Given the description of an element on the screen output the (x, y) to click on. 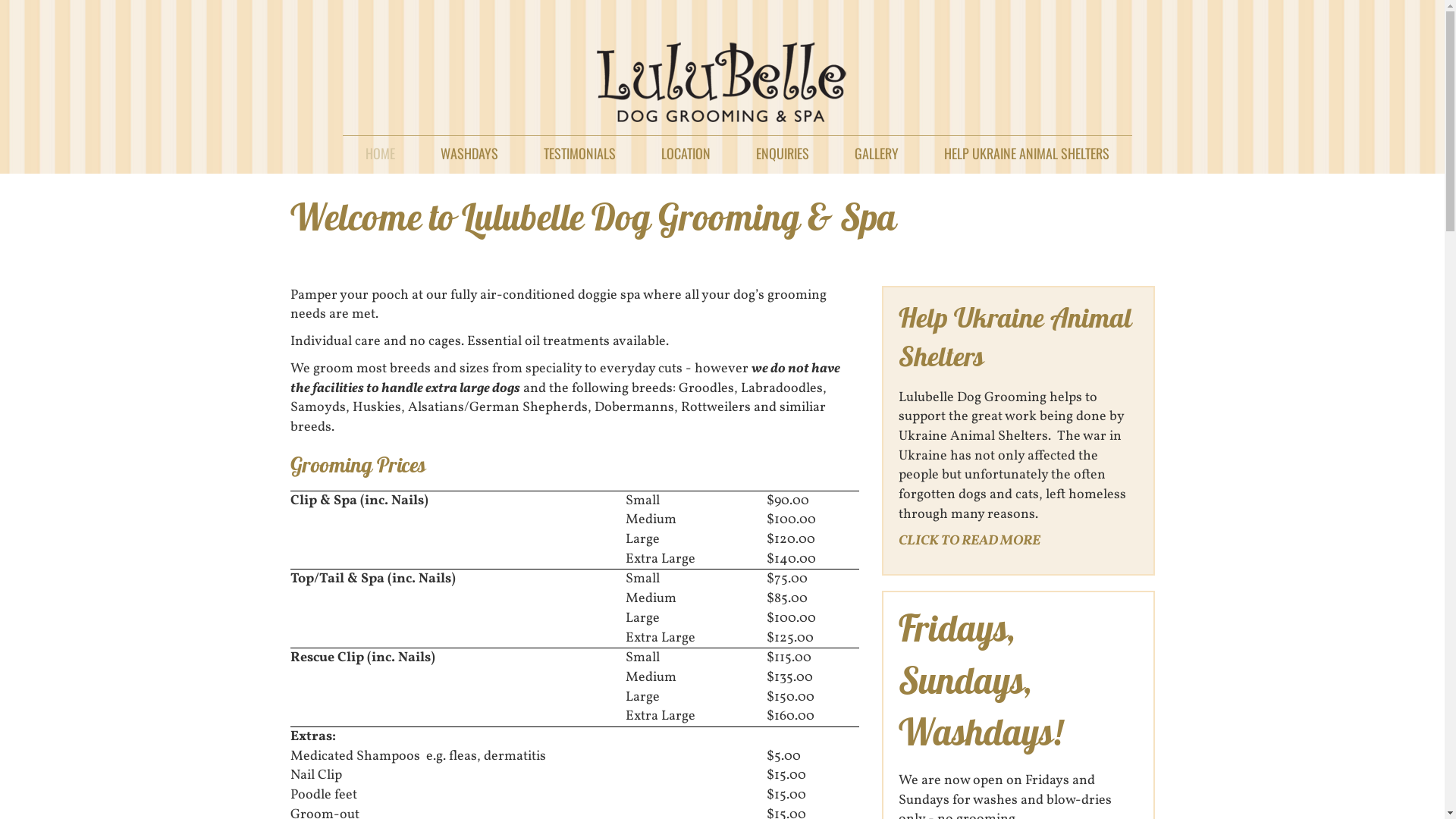
LOCATION Element type: text (685, 148)
ENQUIRIES Element type: text (782, 148)
CLICK TO READ MORE Element type: text (968, 540)
HELP UKRAINE ANIMAL SHELTERS Element type: text (1026, 148)
HOME Element type: text (379, 148)
TESTIMONIALS Element type: text (579, 148)
GALLERY Element type: text (876, 148)
WASHDAYS Element type: text (468, 148)
